Given the description of an element on the screen output the (x, y) to click on. 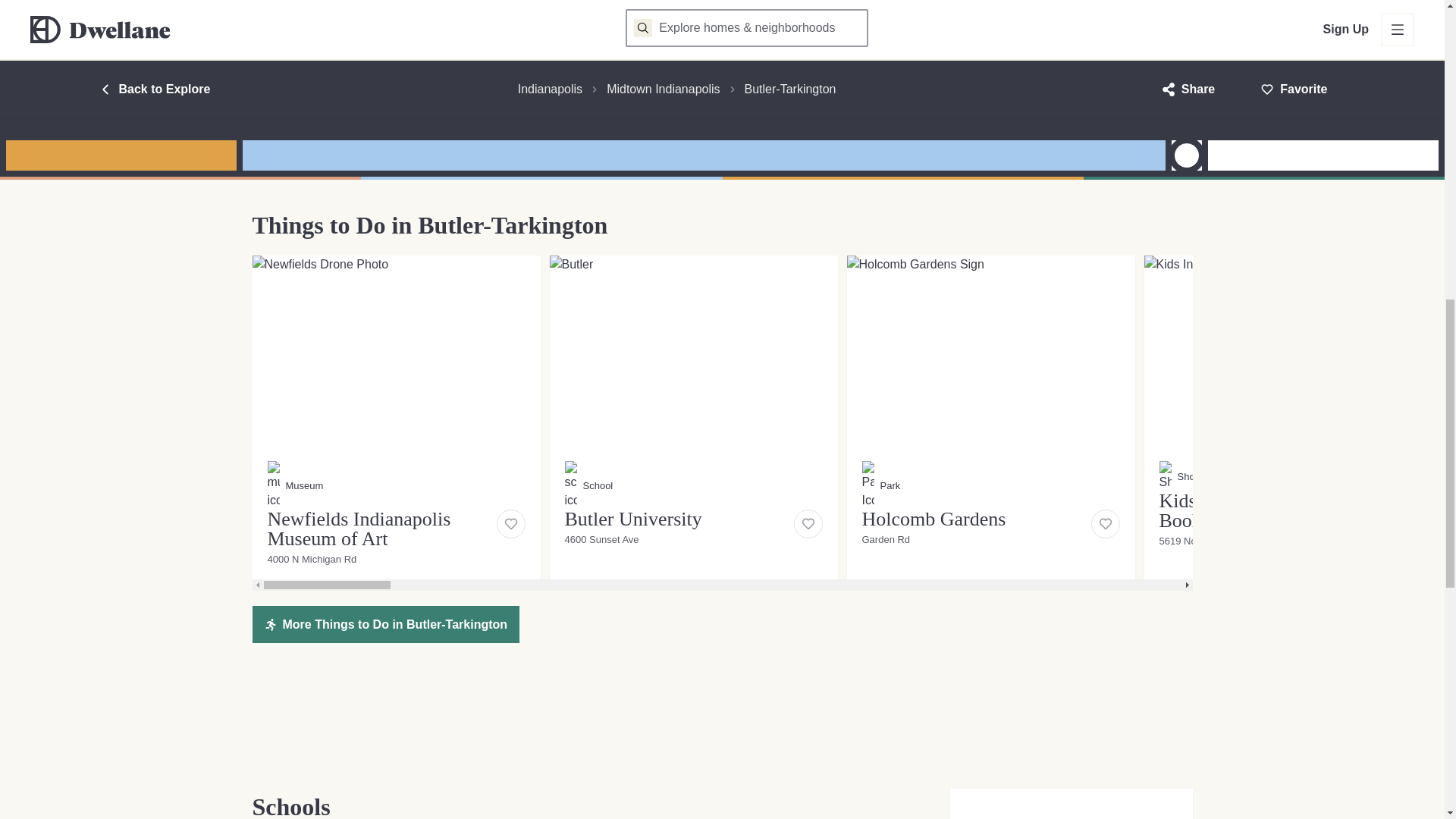
Kids Ink Children's Bookstore (264, 65)
Holcomb Gardens (392, 5)
Lunch Money Boutique (692, 407)
The Riviera Club (391, 55)
Unique Architecture (532, 23)
Byrne's Grilled Pizza (1305, 20)
